Given the description of an element on the screen output the (x, y) to click on. 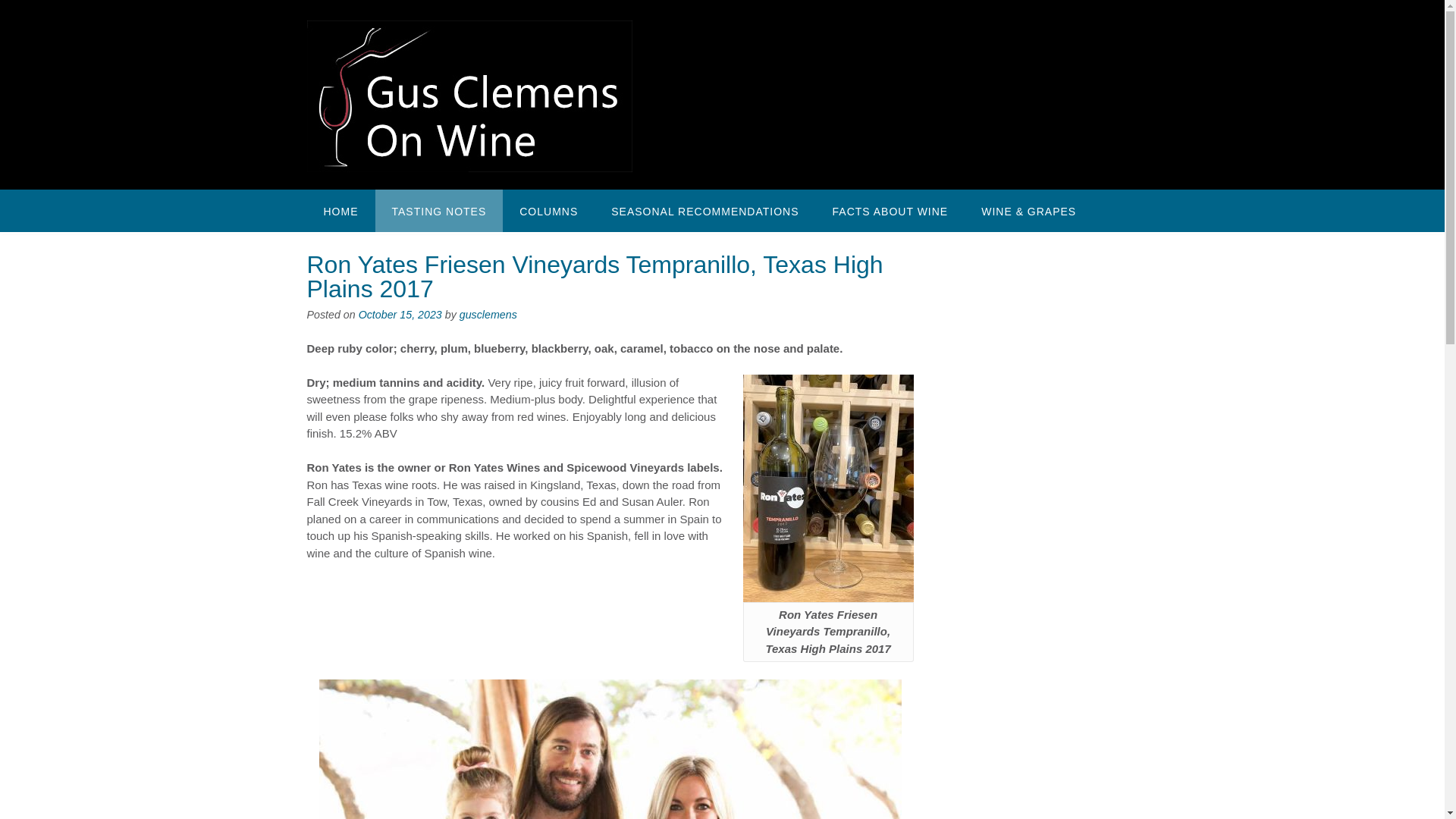
TASTING NOTES (438, 210)
FACTS ABOUT WINE (890, 210)
gusclemens (488, 314)
COLUMNS (548, 210)
SEASONAL RECOMMENDATIONS (704, 210)
HOME (339, 210)
October 15, 2023 (400, 314)
